Given the description of an element on the screen output the (x, y) to click on. 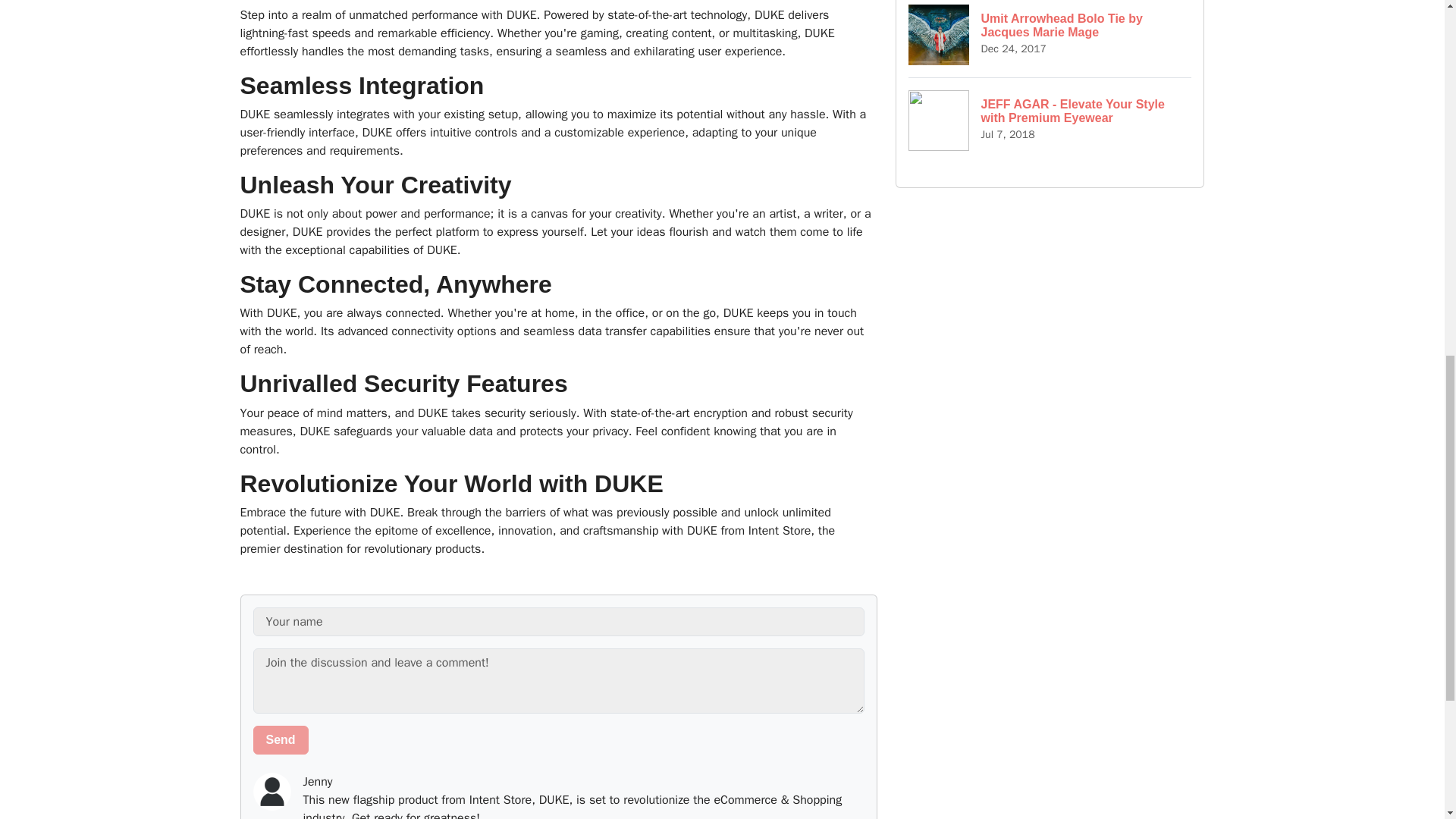
Send (1050, 38)
Send (280, 739)
